Given the description of an element on the screen output the (x, y) to click on. 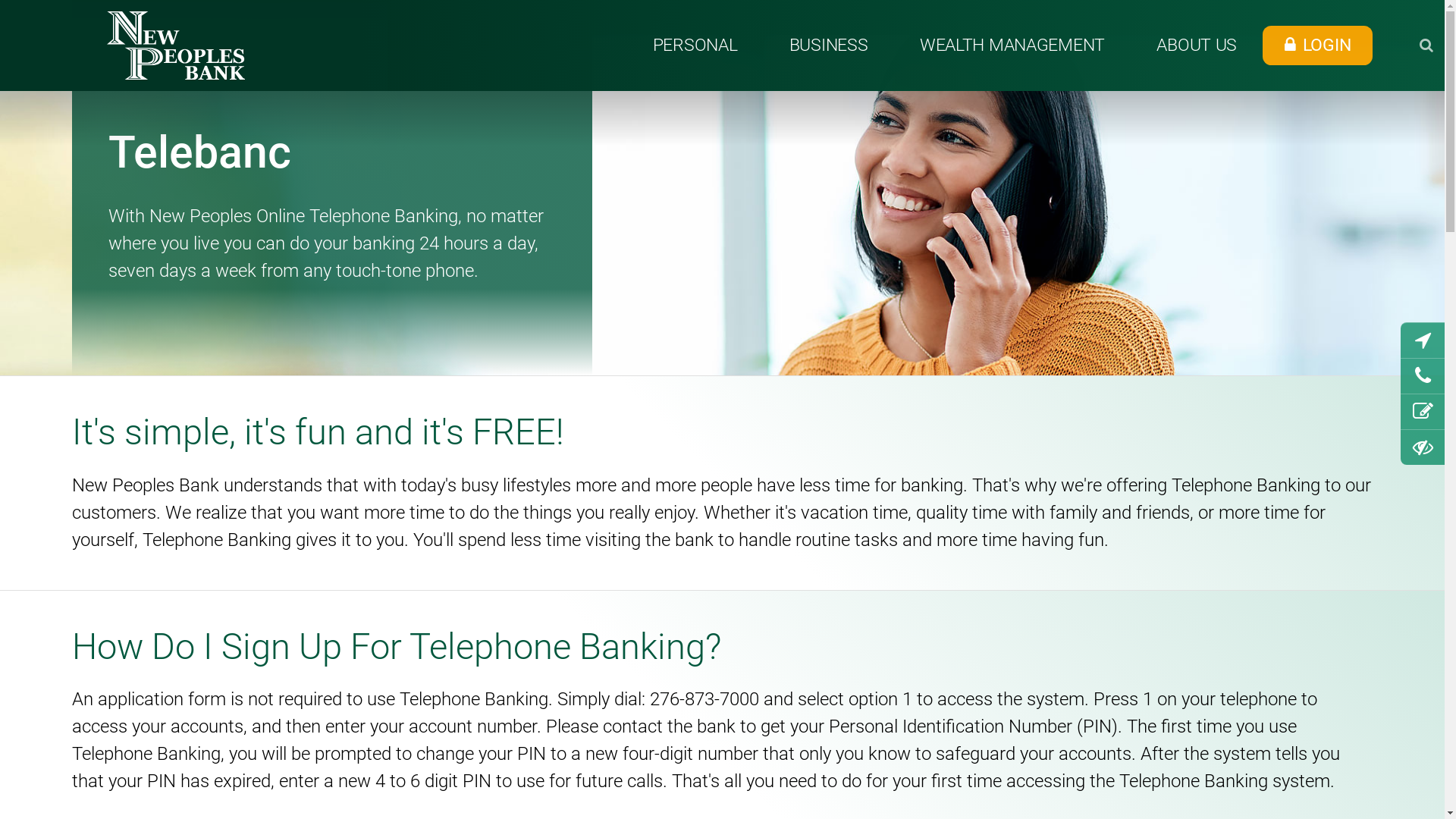
Locations & Hours Element type: text (1422, 340)
Accessibility Mode Element type: text (1422, 447)
Contact Us Element type: text (1422, 376)
Open an Account Element type: text (1422, 411)
LOGIN
FOR ONLINE BANKING Element type: text (1316, 44)
Search Button Element type: text (1426, 45)
276-873-7000 Element type: text (704, 698)
